Given the description of an element on the screen output the (x, y) to click on. 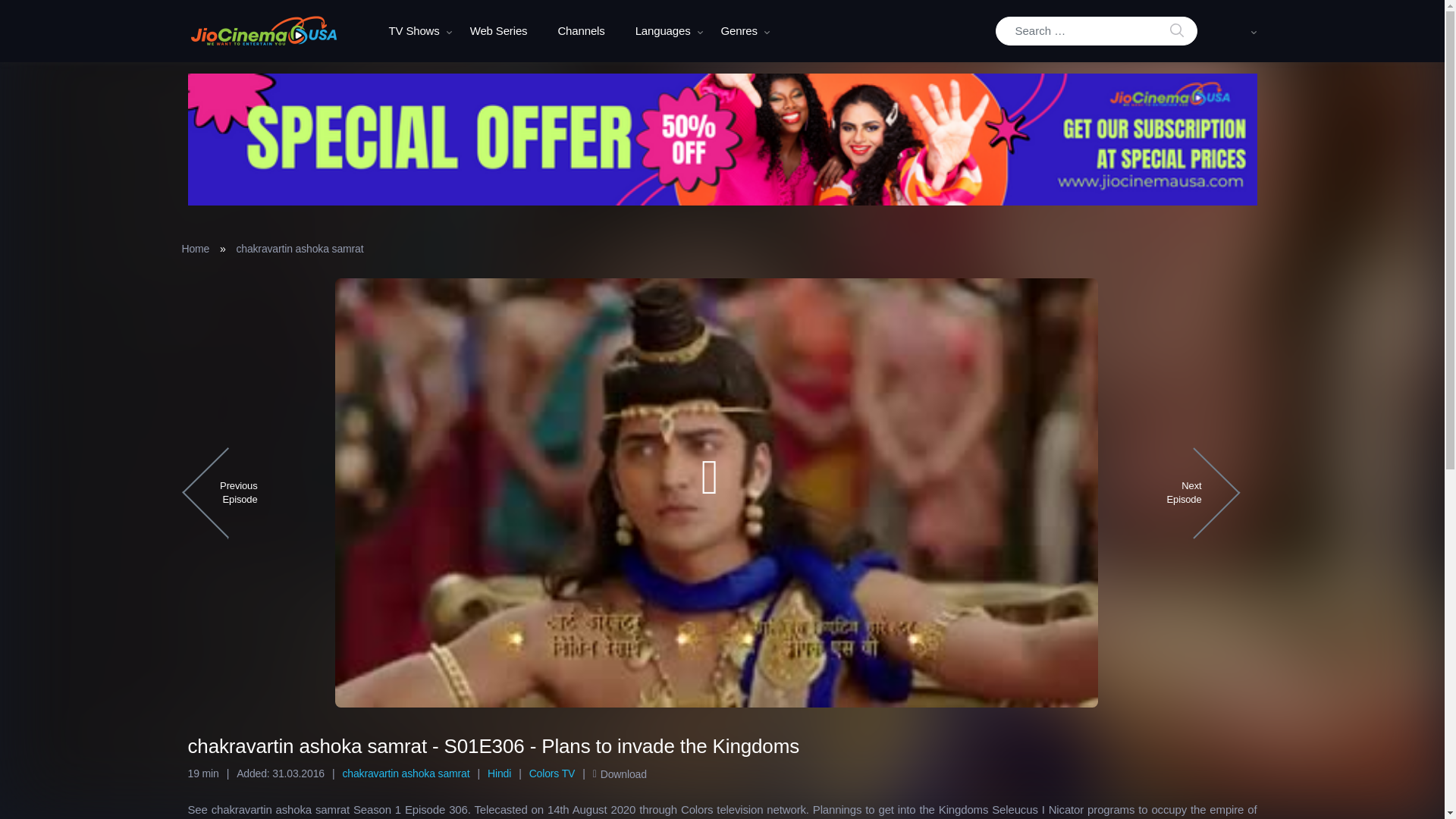
Web Series (498, 31)
Languages (663, 31)
Genres (739, 31)
TV Shows (413, 31)
Channels (580, 31)
